Given the description of an element on the screen output the (x, y) to click on. 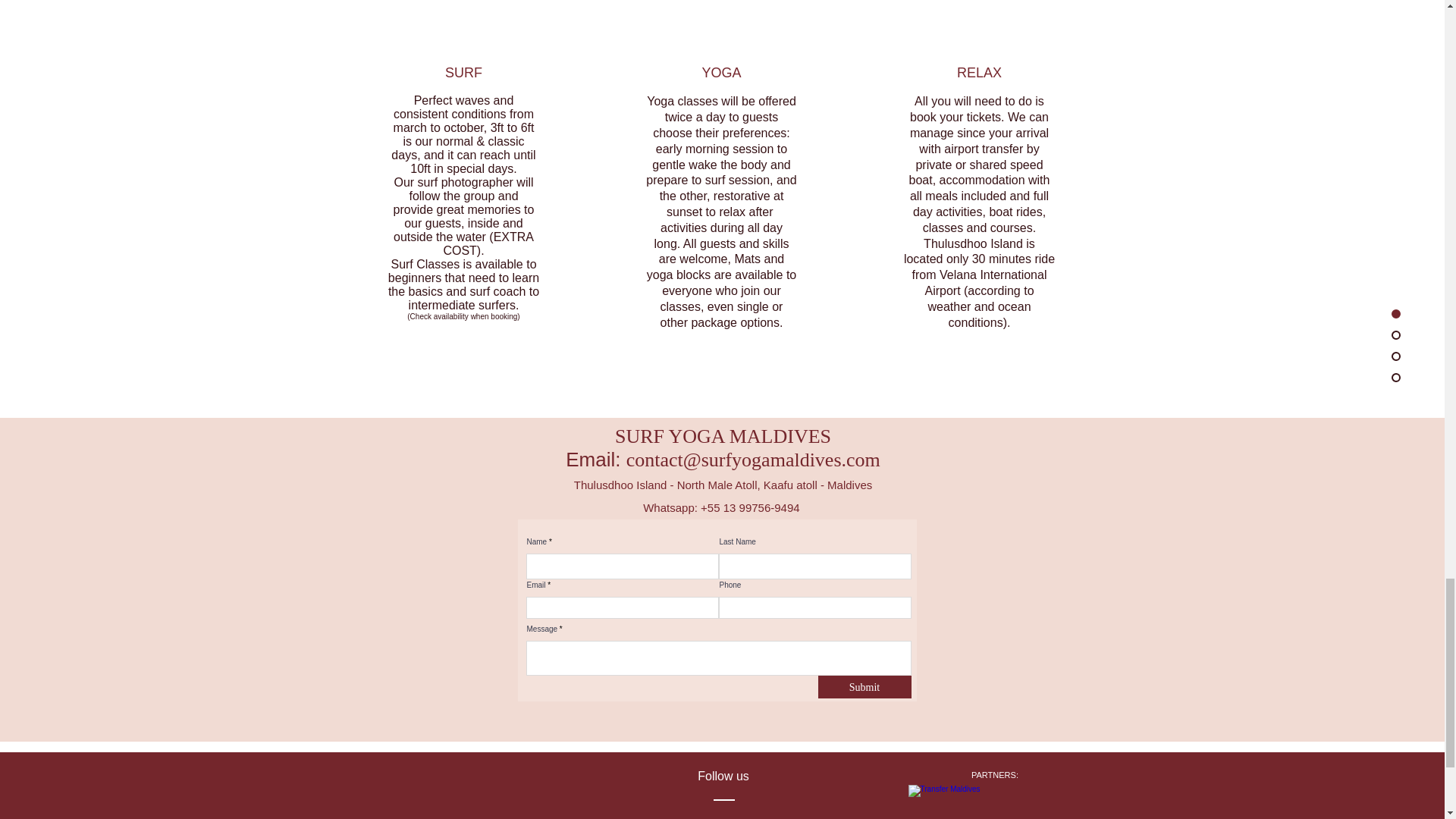
Follow us (723, 775)
Submit (863, 686)
